Given the description of an element on the screen output the (x, y) to click on. 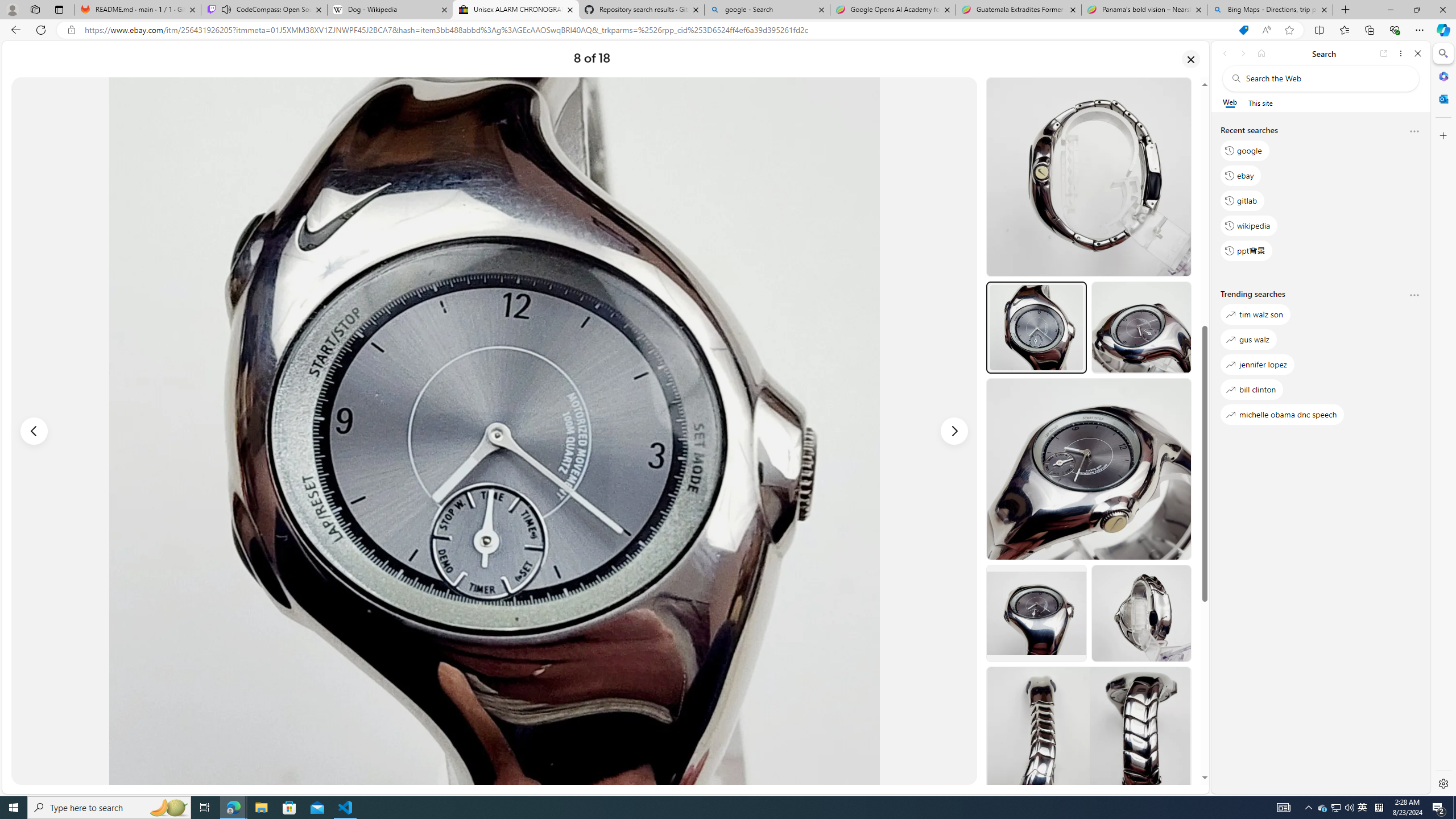
Mute tab (226, 8)
tim walz son (1255, 314)
This site scope (1259, 102)
wikipedia (1249, 225)
Forward (1242, 53)
